Given the description of an element on the screen output the (x, y) to click on. 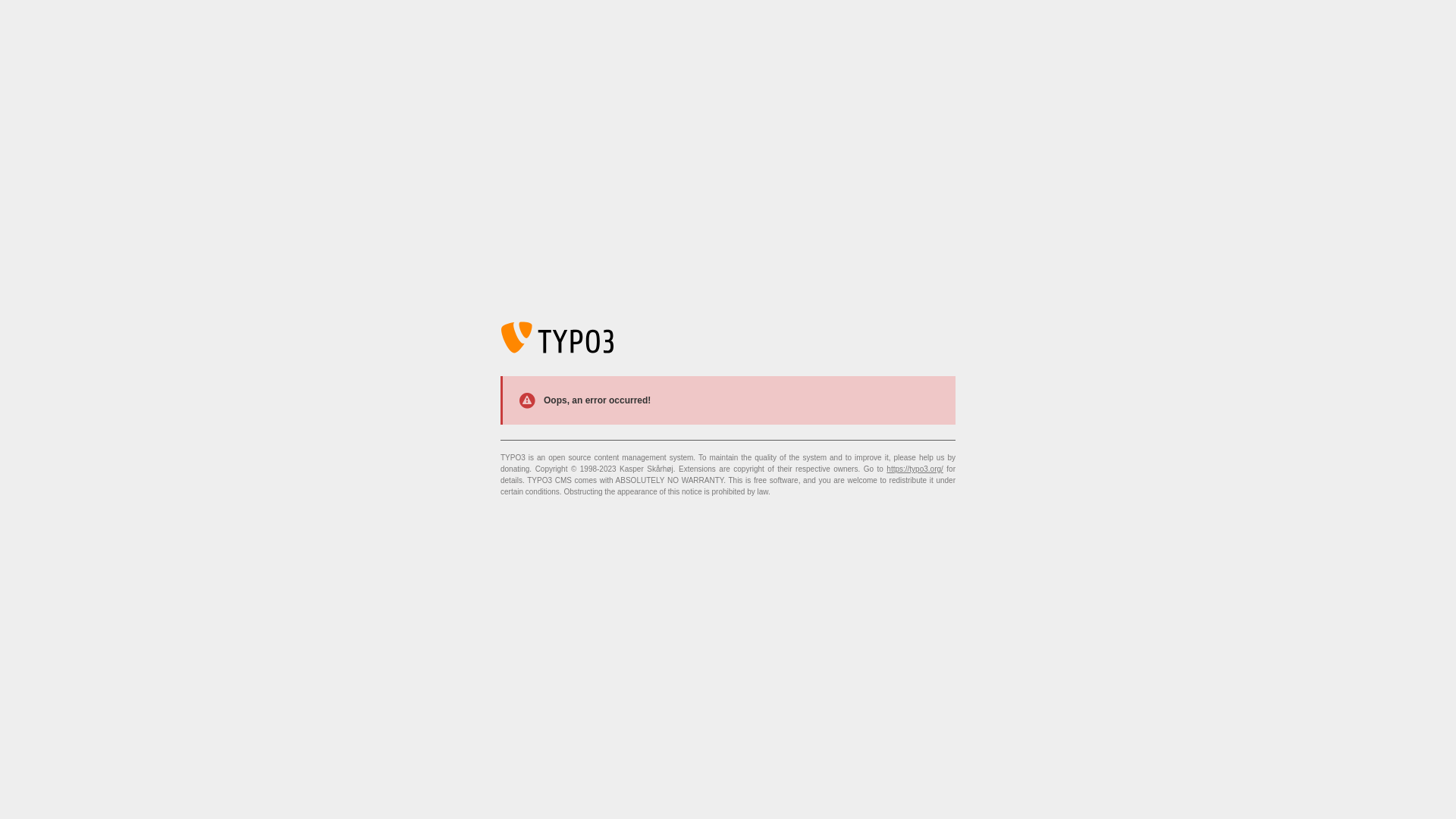
https://typo3.org/ Element type: text (914, 468)
